Given the description of an element on the screen output the (x, y) to click on. 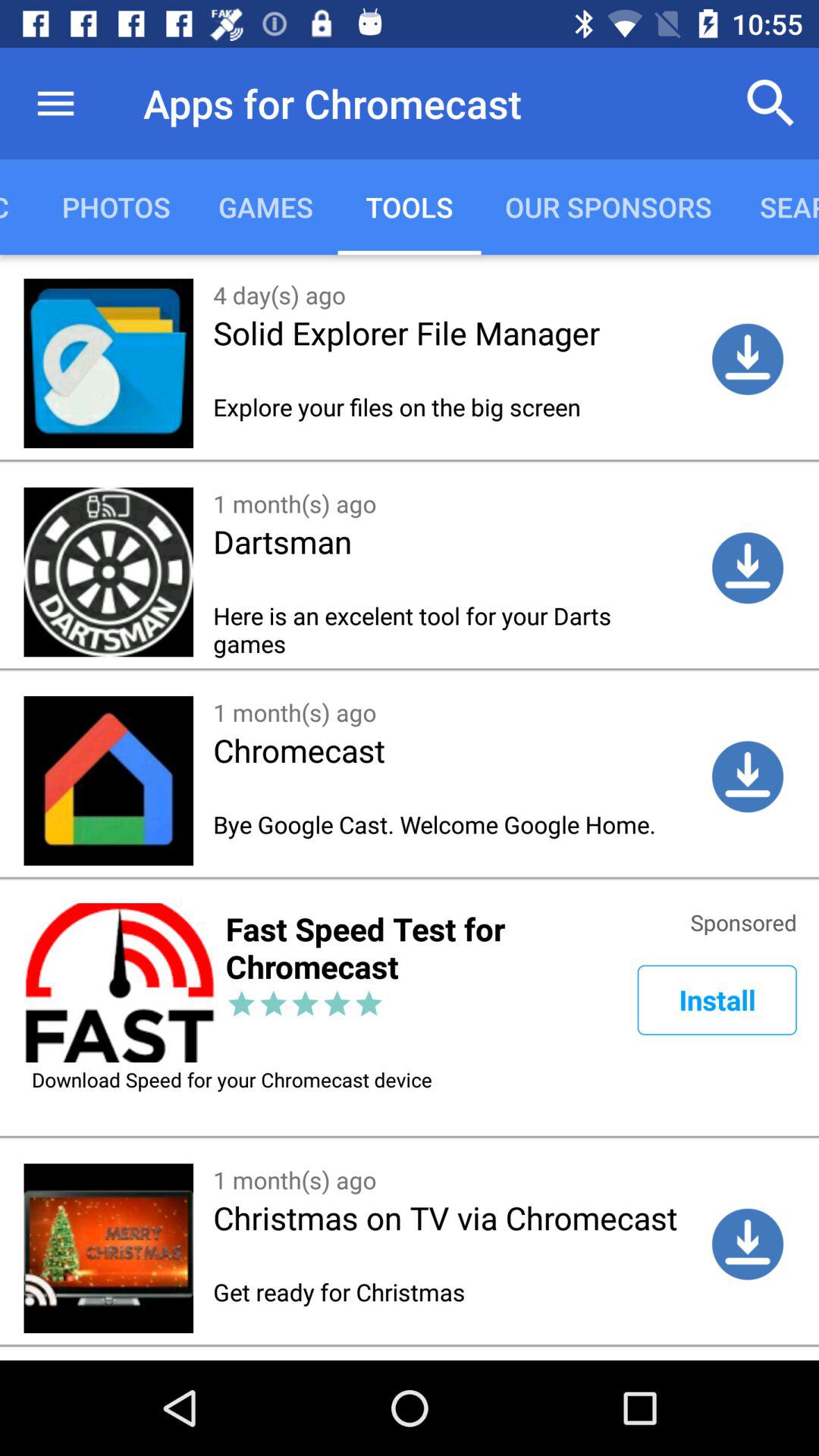
click app above the download speed for item (716, 1000)
